Given the description of an element on the screen output the (x, y) to click on. 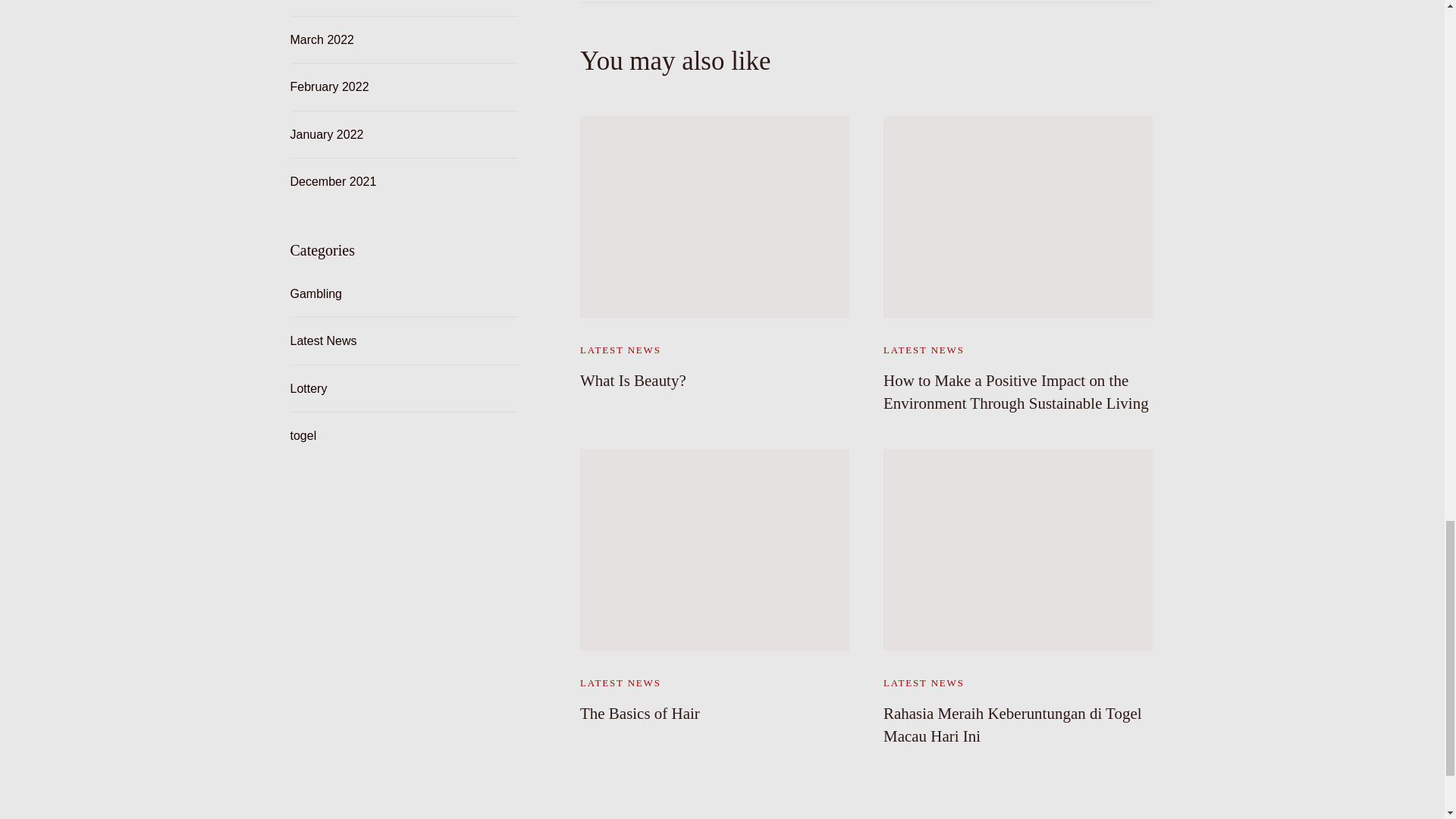
LATEST NEWS (620, 682)
What Is Beauty? (632, 380)
LATEST NEWS (923, 349)
LATEST NEWS (620, 349)
